Given the description of an element on the screen output the (x, y) to click on. 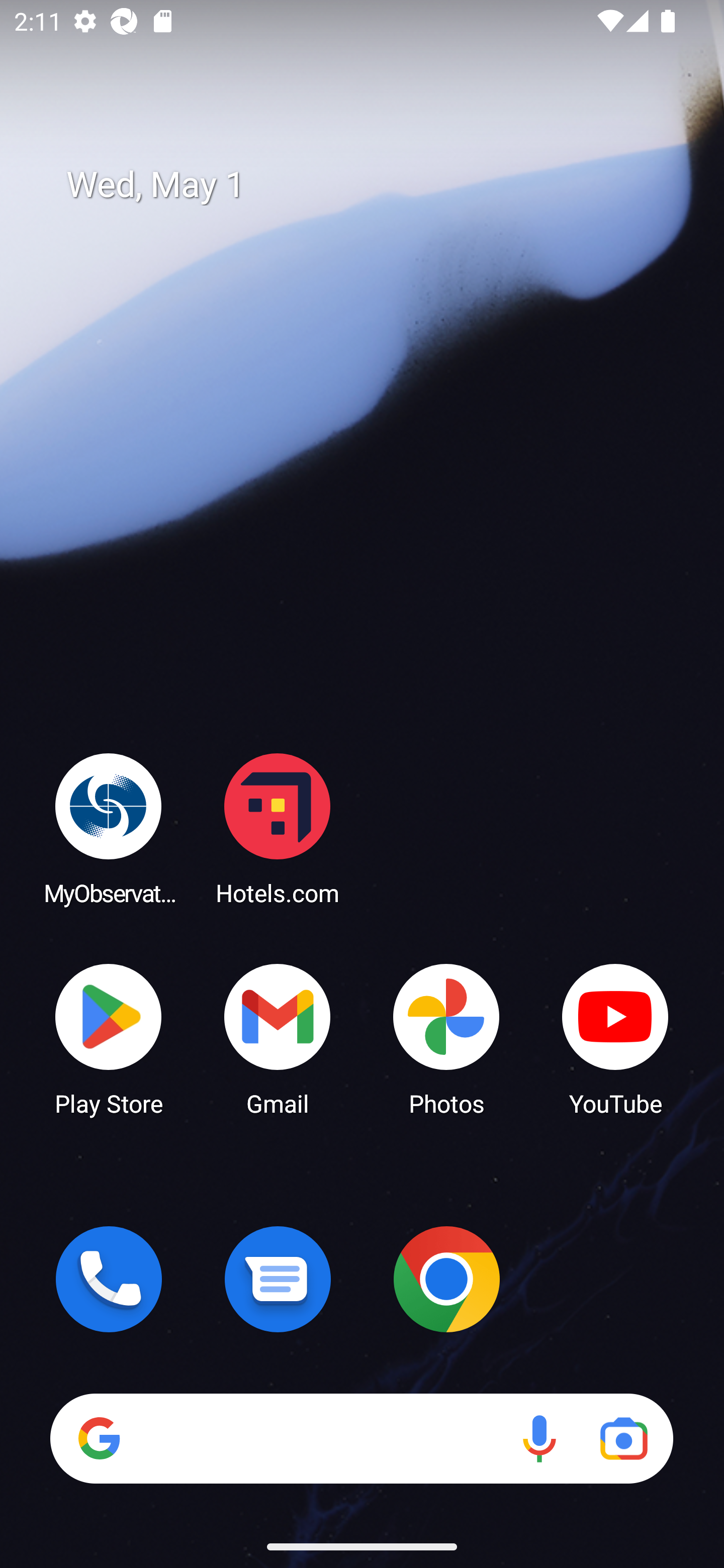
Wed, May 1 (375, 184)
MyObservatory (108, 828)
Hotels.com (277, 828)
Play Store (108, 1038)
Gmail (277, 1038)
Photos (445, 1038)
YouTube (615, 1038)
Phone (108, 1279)
Messages (277, 1279)
Chrome (446, 1279)
Search Voice search Google Lens (361, 1438)
Voice search (539, 1438)
Google Lens (623, 1438)
